Given the description of an element on the screen output the (x, y) to click on. 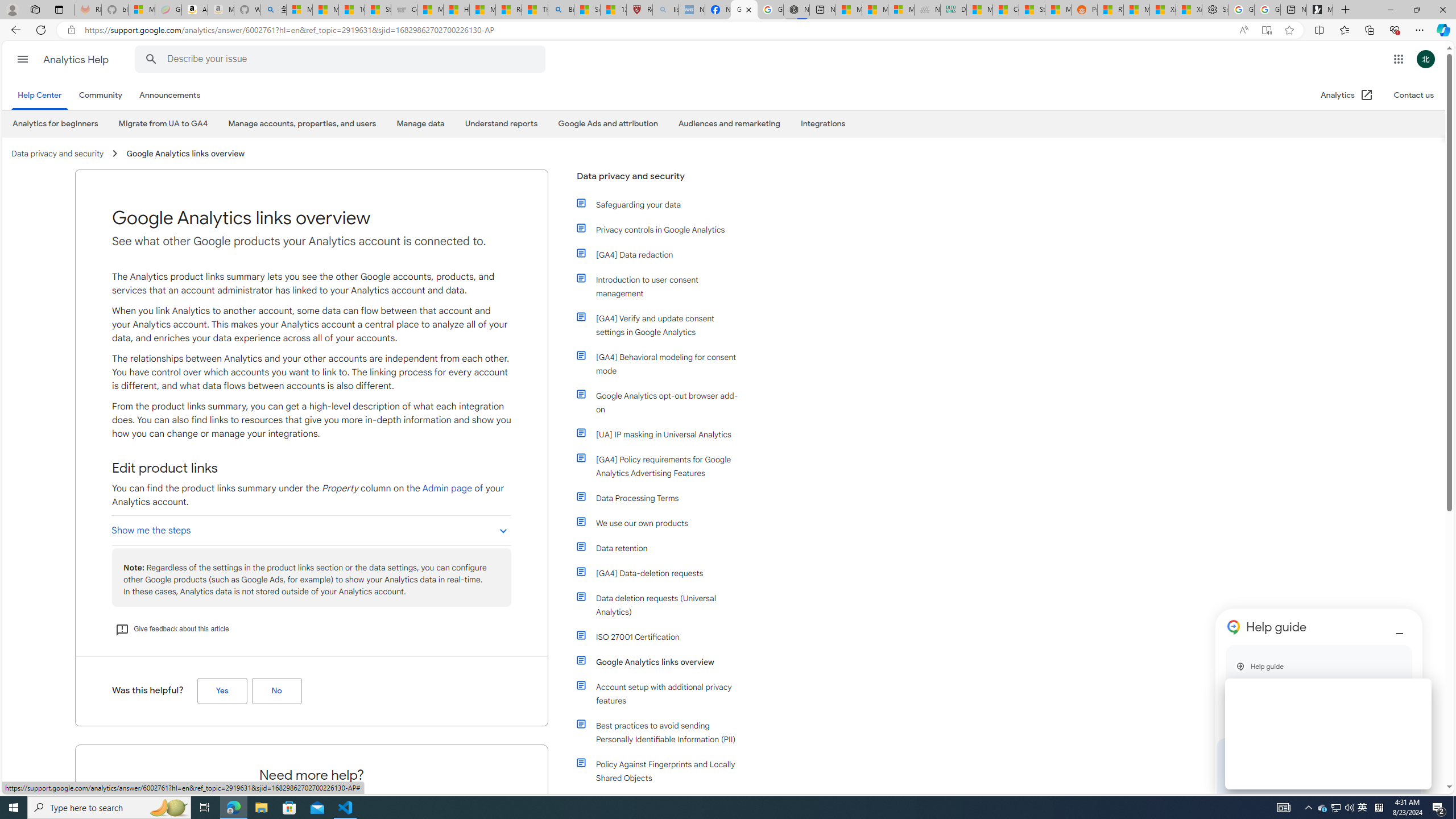
[GA4] Data redaction (664, 254)
Enter Immersive Reader (F9) (1266, 29)
R******* | Trusted Community Engagement and Contributions (1110, 9)
Yes (Was this helpful?) (221, 691)
[GA4] Data-deletion requests (658, 573)
Google Analytics links overview (658, 661)
We use our own products (664, 523)
Data Processing Terms (658, 498)
